Given the description of an element on the screen output the (x, y) to click on. 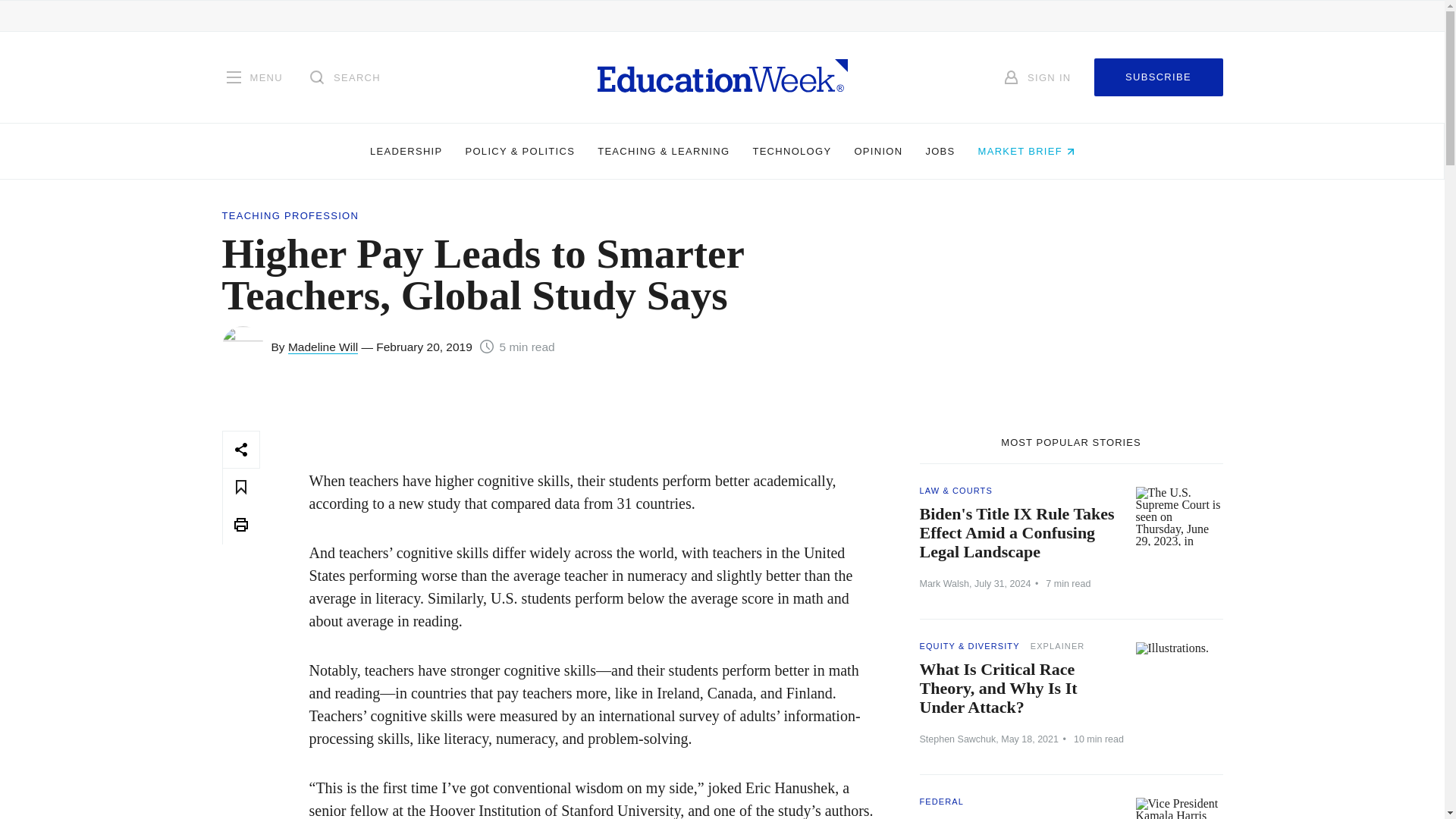
Homepage (721, 76)
